Given the description of an element on the screen output the (x, y) to click on. 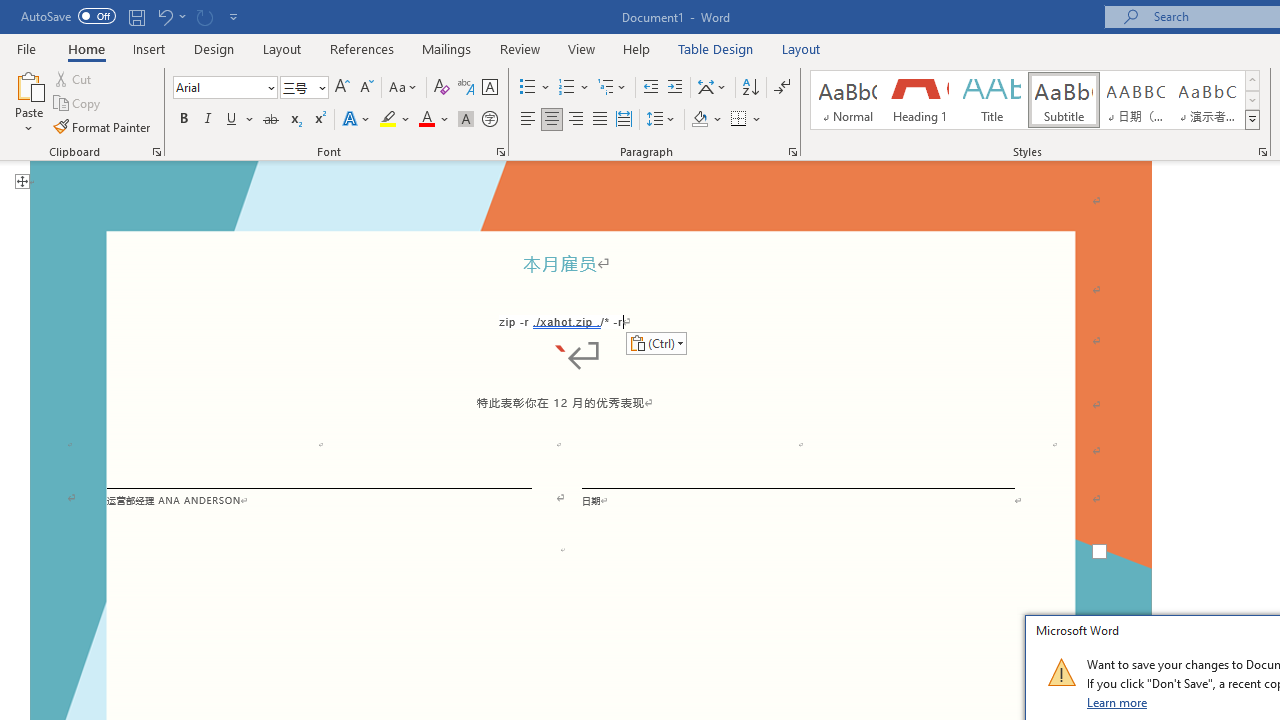
Font Color Red (426, 119)
Heading 1 (920, 100)
